Given the description of an element on the screen output the (x, y) to click on. 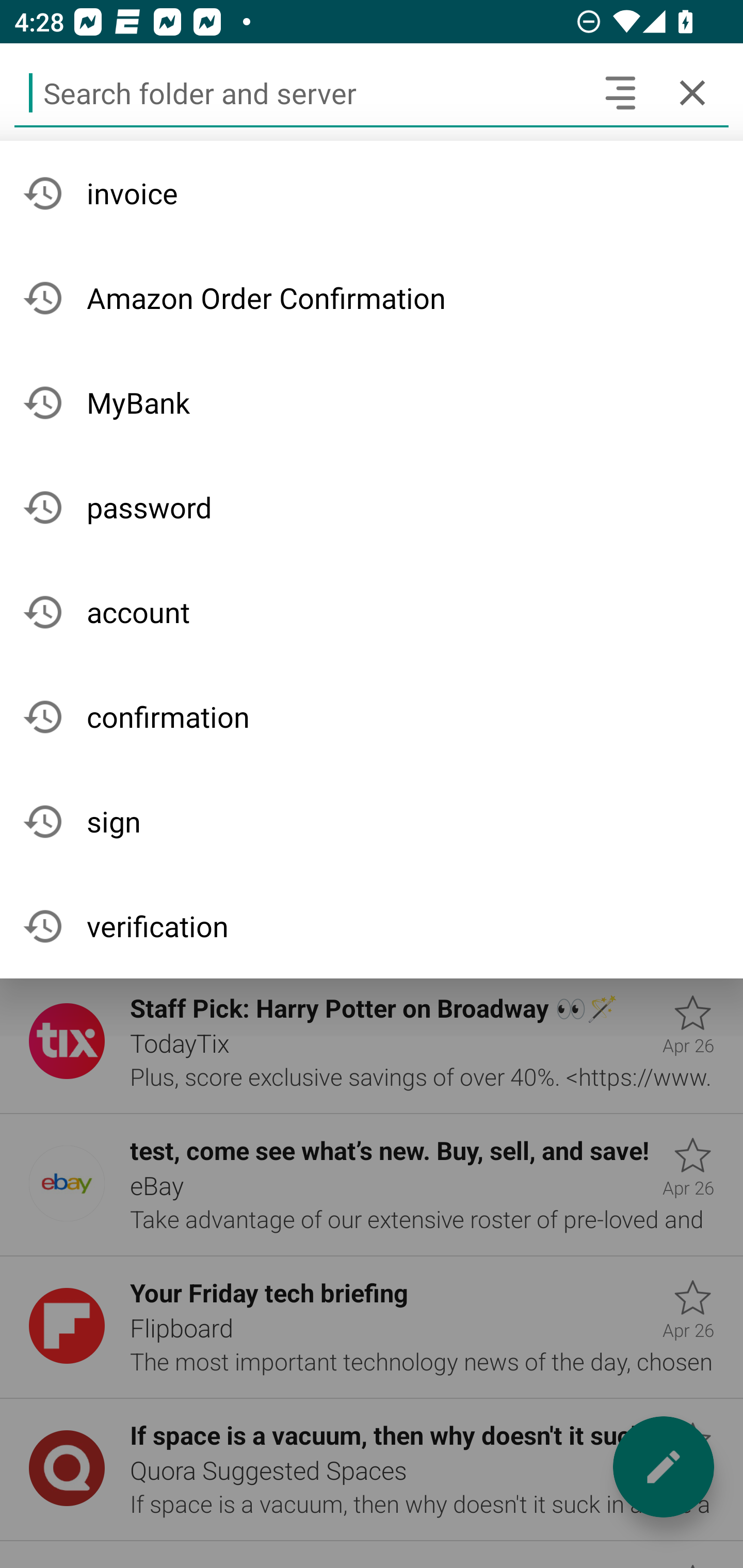
   Search folder and server (298, 92)
Search headers and text (619, 92)
Cancel (692, 92)
